Given the description of an element on the screen output the (x, y) to click on. 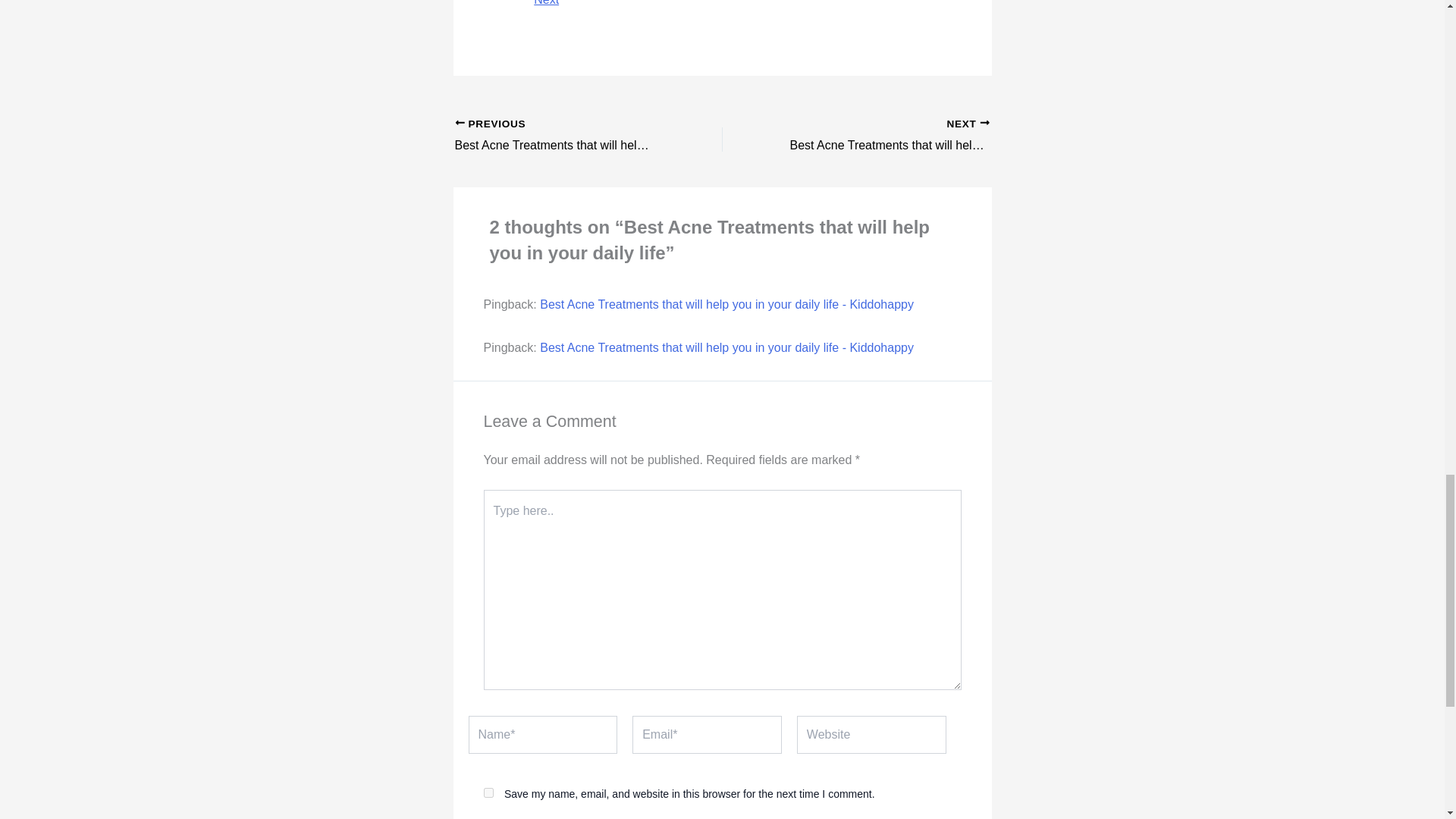
yes (488, 792)
Next (546, 2)
Best Acne Treatments that will help you in your daily life (561, 136)
Best Acne Treatments that will help you in your daily life (882, 136)
